Given the description of an element on the screen output the (x, y) to click on. 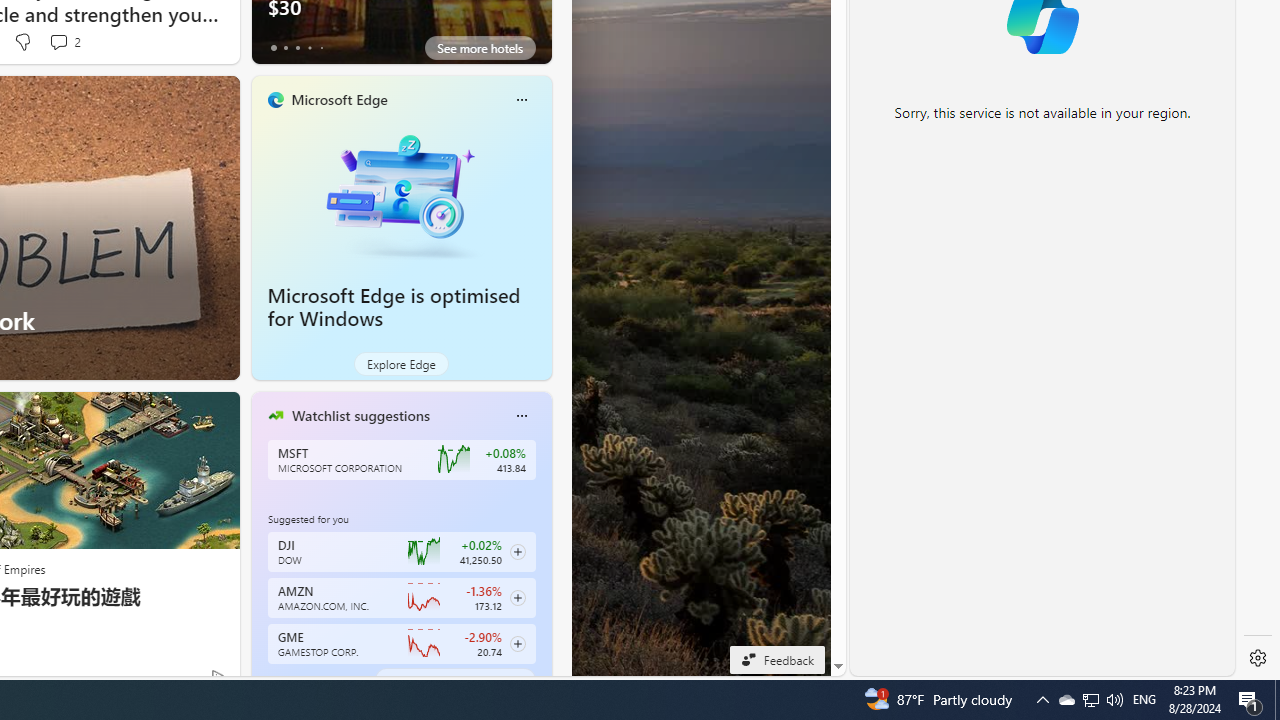
Watchlist suggestions (360, 415)
See watchlist suggestions (454, 679)
View comments 2 Comment (64, 42)
View comments 2 Comment (58, 41)
Microsoft Edge (338, 99)
Settings (1258, 658)
Microsoft Edge is optimised for Windows (393, 307)
Explore Edge (401, 363)
More options (521, 415)
tab-4 (320, 679)
tab-0 (273, 679)
tab-1 (285, 679)
